Given the description of an element on the screen output the (x, y) to click on. 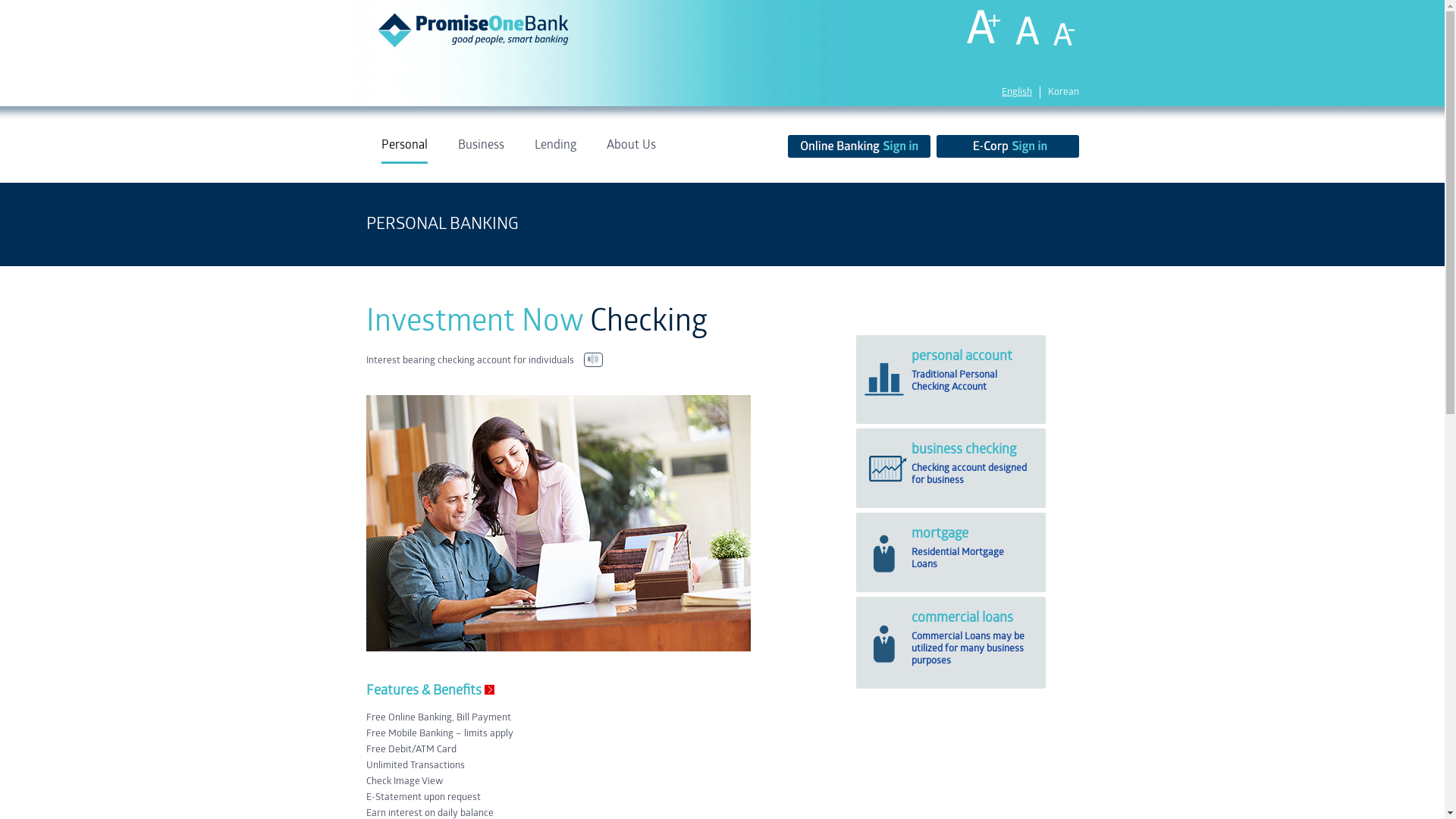
ResponsiveVoice Tap to Start/Stop Speech Element type: hover (592, 359)
Commercial Loans may be utilized for many business purposes Element type: text (967, 648)
commercial loans Element type: text (962, 617)
English Element type: text (1016, 92)
Lending Element type: text (554, 150)
Residential Mortgage Loans Element type: text (957, 558)
Play Element type: text (592, 359)
Personal Element type: text (403, 150)
Traditional Personal Checking Account Element type: text (954, 381)
Business Element type: text (481, 150)
Korean Element type: text (1063, 92)
business checking Element type: text (963, 449)
mortgage Element type: text (939, 533)
Checking account designed for business Element type: text (968, 474)
personal account Element type: text (961, 356)
About Us Element type: text (630, 150)
